Given the description of an element on the screen output the (x, y) to click on. 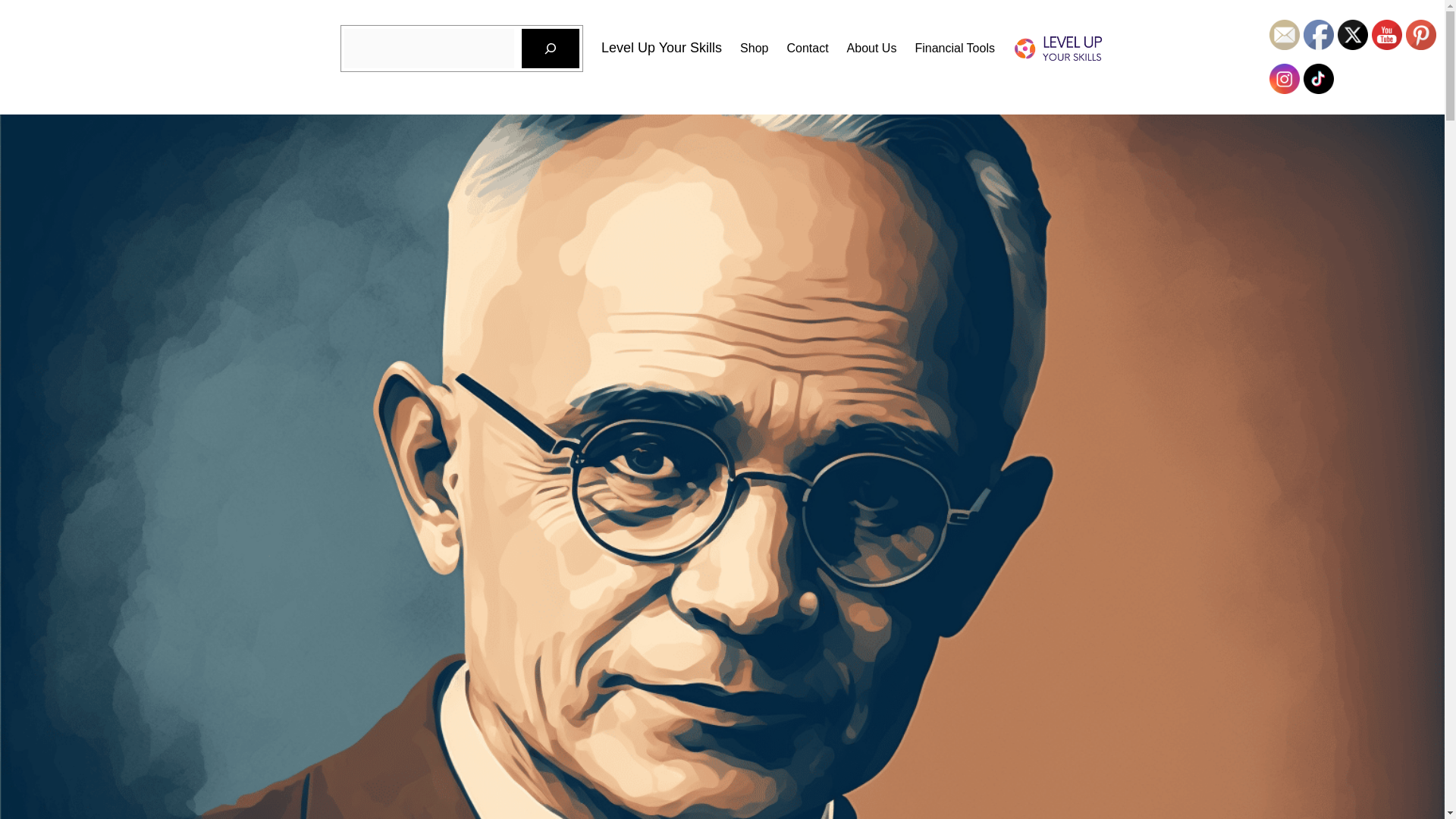
Tiktok (1318, 78)
Shop (753, 48)
Pinterest (1420, 34)
Level Up Your Skills (661, 47)
Financial Tools (954, 48)
About Us (871, 48)
Contact (807, 48)
Facebook (1318, 34)
